Given the description of an element on the screen output the (x, y) to click on. 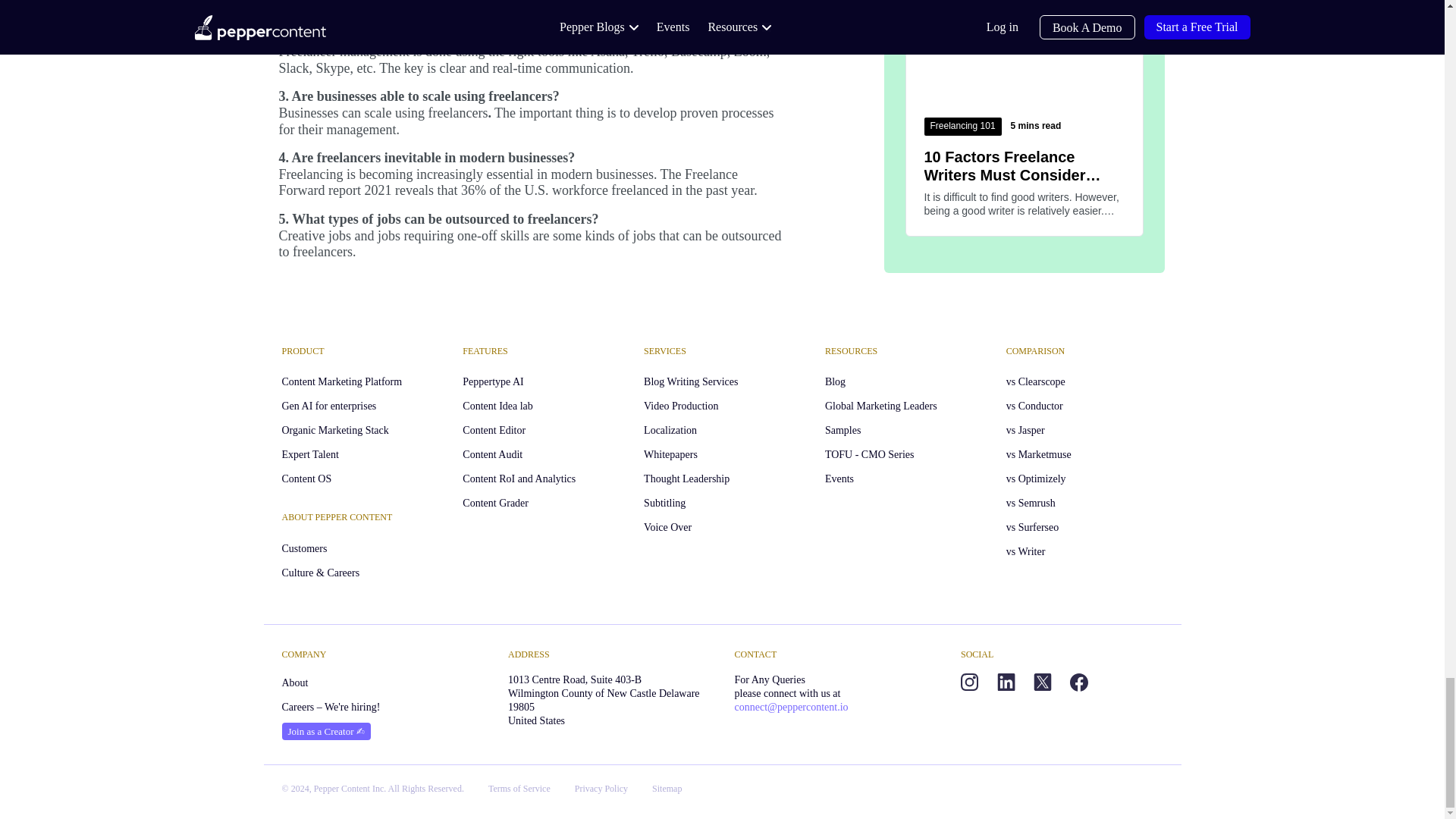
twitter (1042, 682)
linkedin (1005, 682)
facebook (1078, 682)
instagram (969, 682)
